Given the description of an element on the screen output the (x, y) to click on. 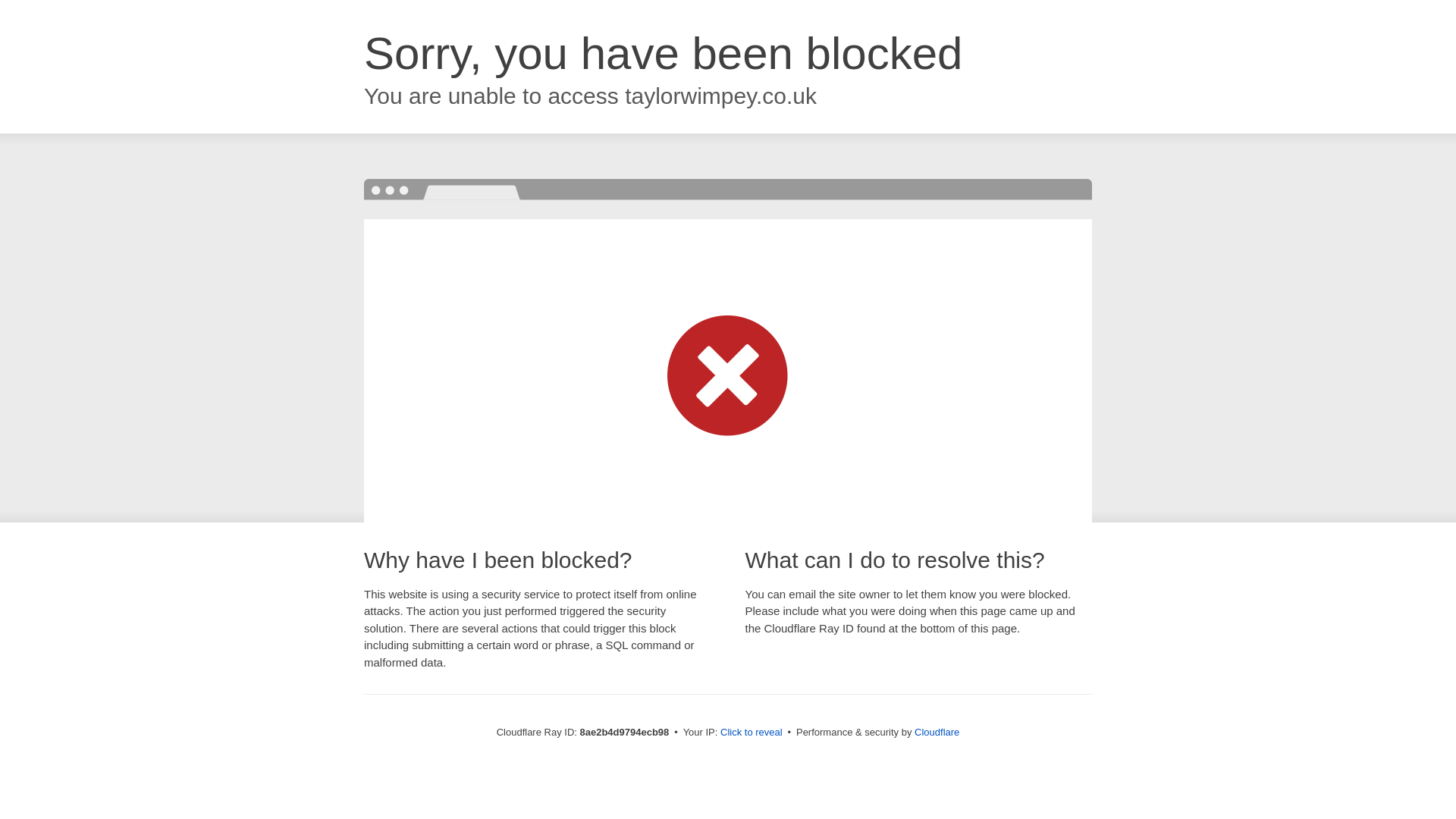
Click to reveal (751, 732)
Cloudflare (936, 731)
